Given the description of an element on the screen output the (x, y) to click on. 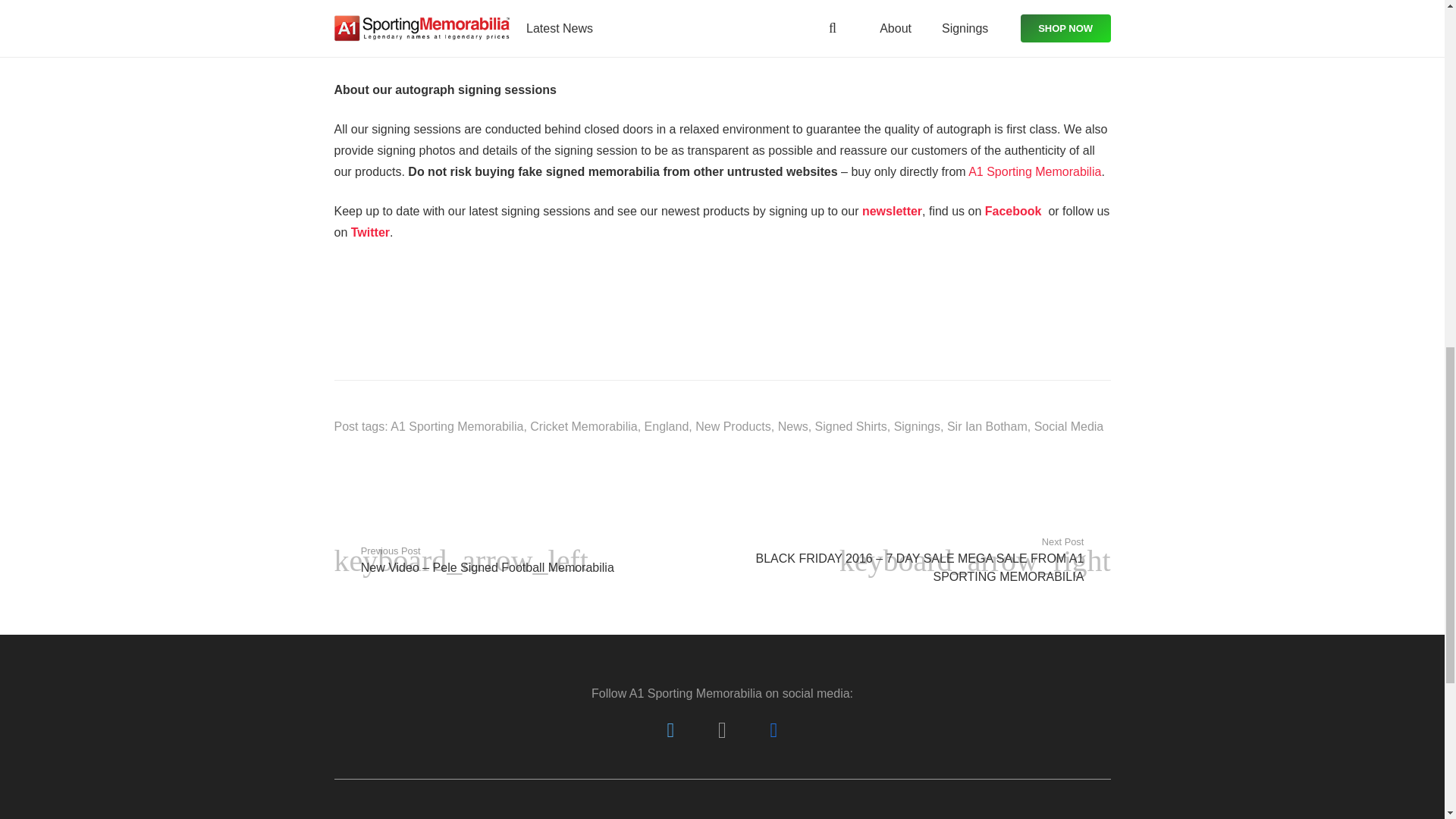
Signings (916, 426)
News (792, 426)
A1 Sporting Memorabilia (456, 426)
Instagram (721, 729)
Cricket Memorabilia (583, 426)
Twitter (670, 729)
Twitter (370, 232)
Signed Shirts (850, 426)
Back to top (1332, 27)
